Given the description of an element on the screen output the (x, y) to click on. 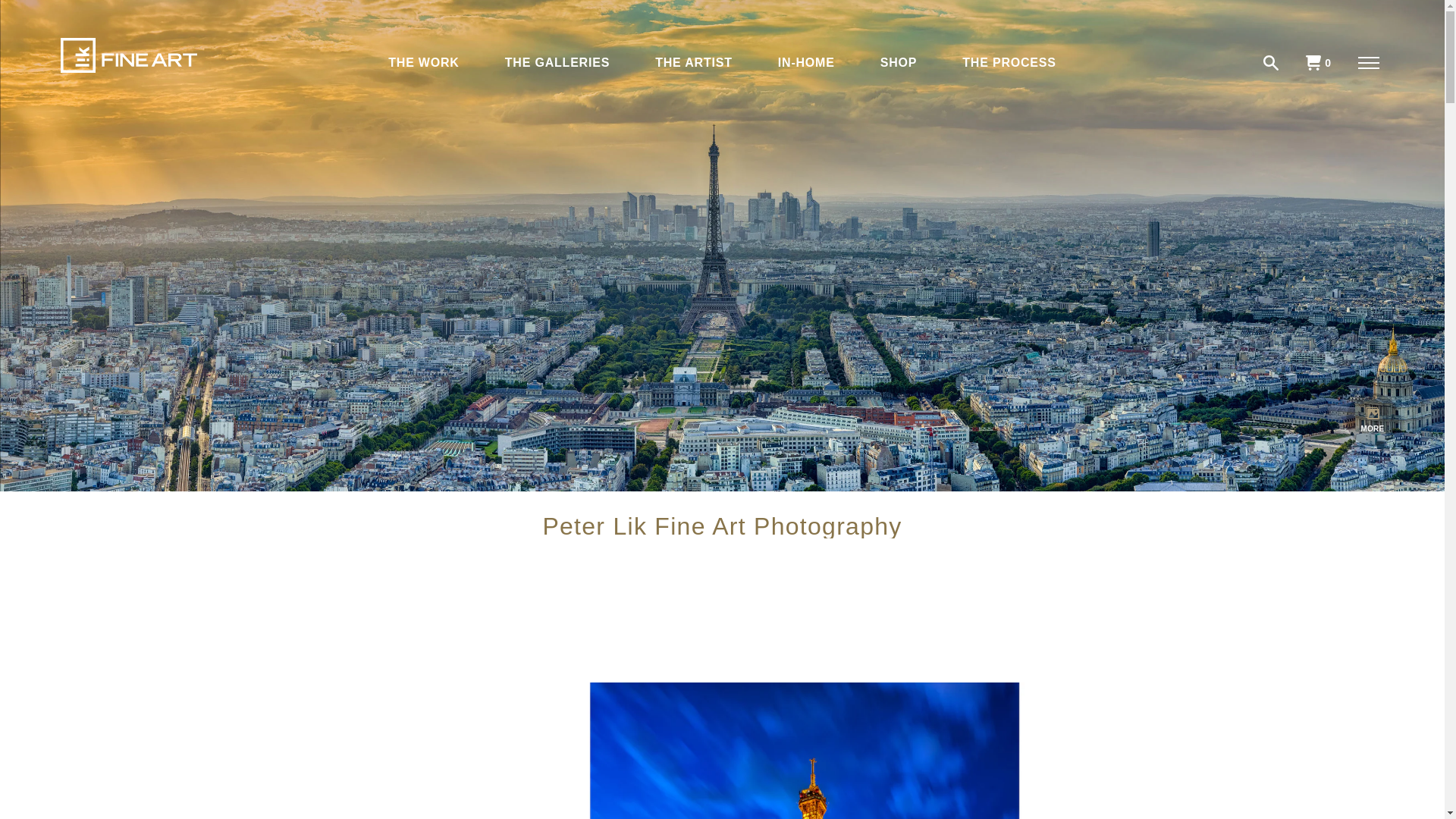
Lik Fine Art (128, 54)
THE ARTIST (693, 62)
THE WORK (423, 62)
THE GALLERIES (556, 62)
